Given the description of an element on the screen output the (x, y) to click on. 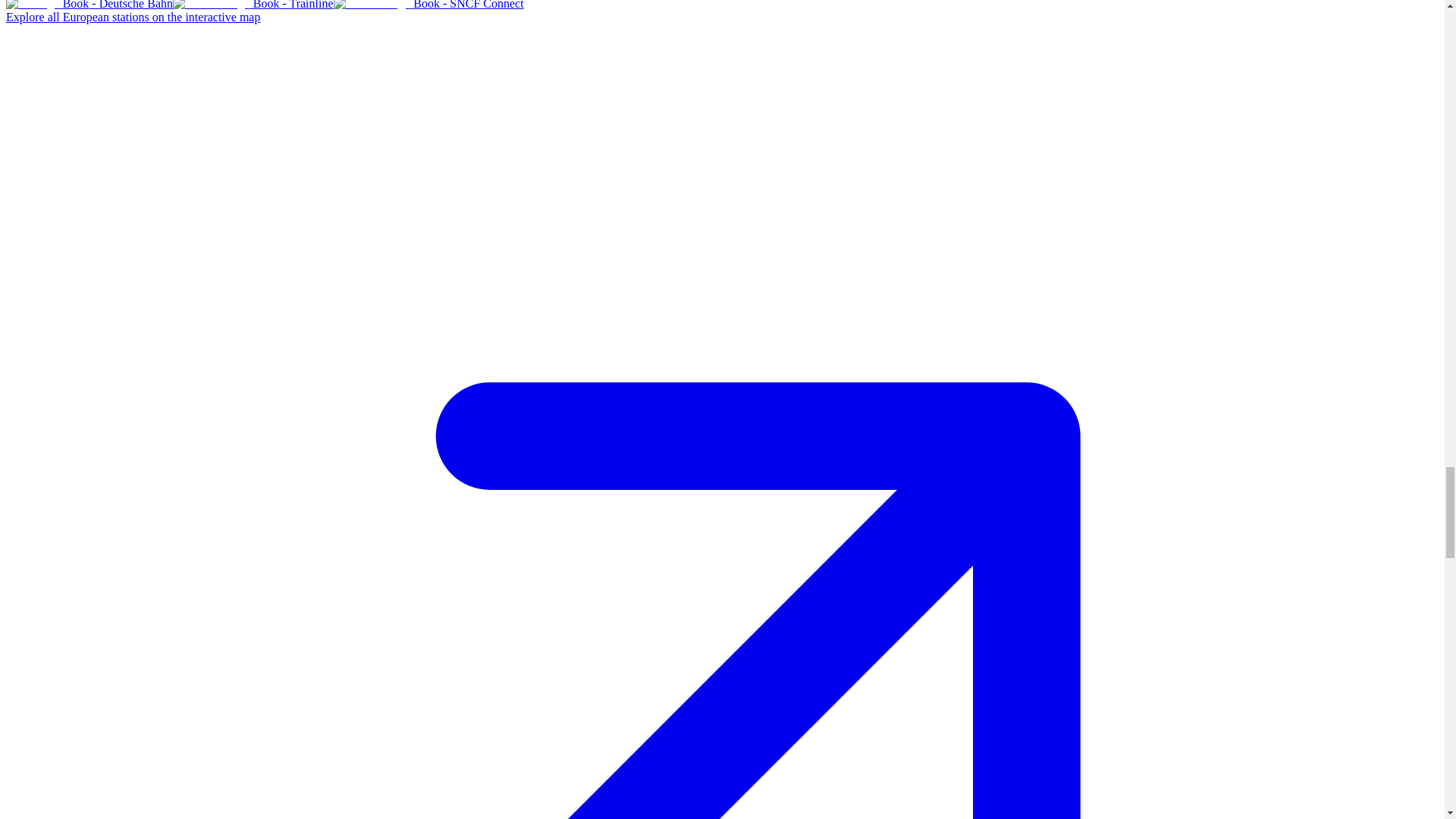
Book - SNCF Connect (428, 4)
Book - Trainline (253, 4)
Book - Deutsche Bahn (89, 4)
